Given the description of an element on the screen output the (x, y) to click on. 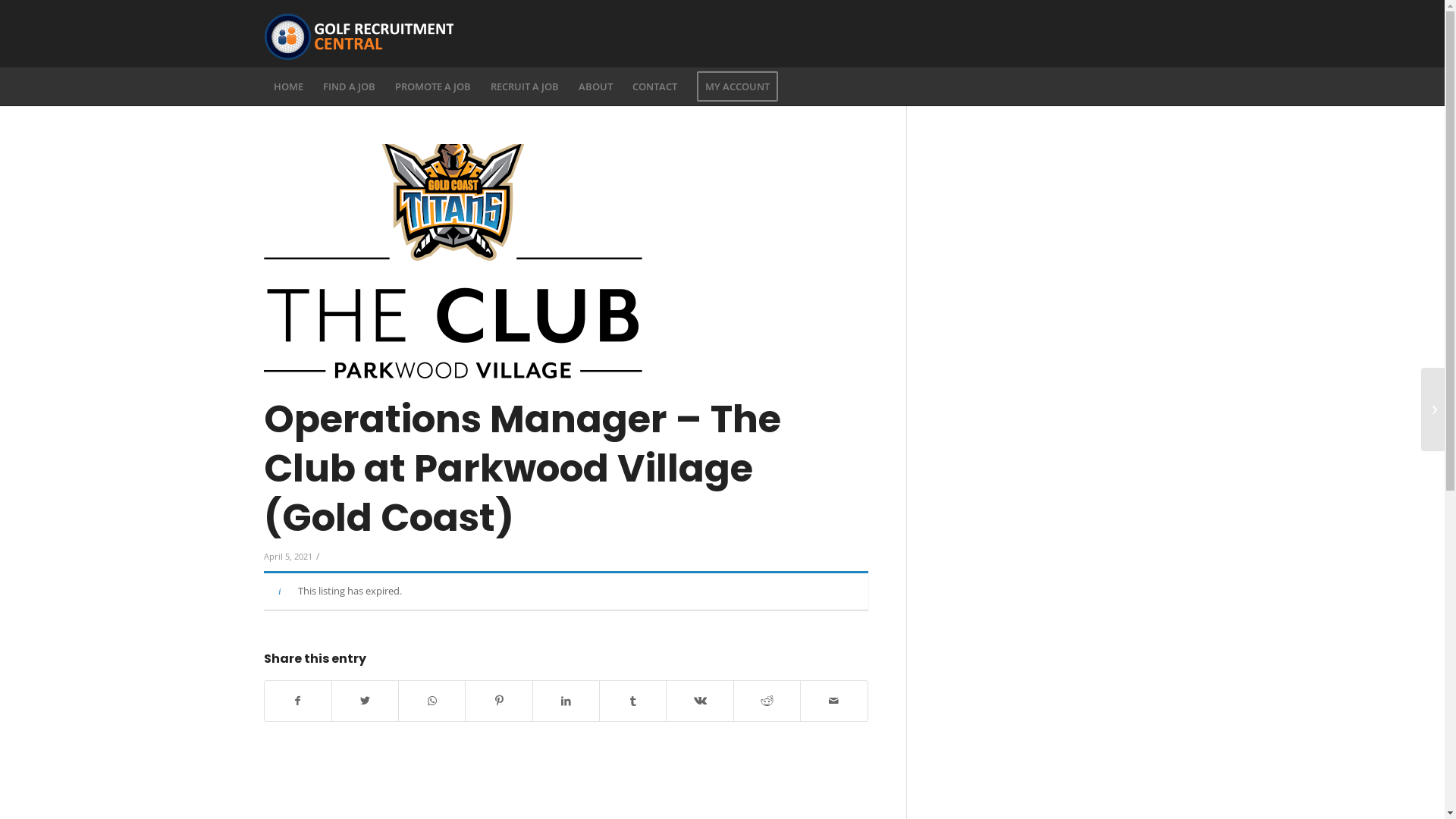
PROMOTE A JOB Element type: text (432, 86)
MY ACCOUNT Element type: text (737, 86)
FIND A JOB Element type: text (348, 86)
RECRUIT A JOB Element type: text (524, 86)
HOME Element type: text (288, 86)
logo Element type: hover (565, 265)
CONTACT Element type: text (653, 86)
ABOUT Element type: text (595, 86)
